Given the description of an element on the screen output the (x, y) to click on. 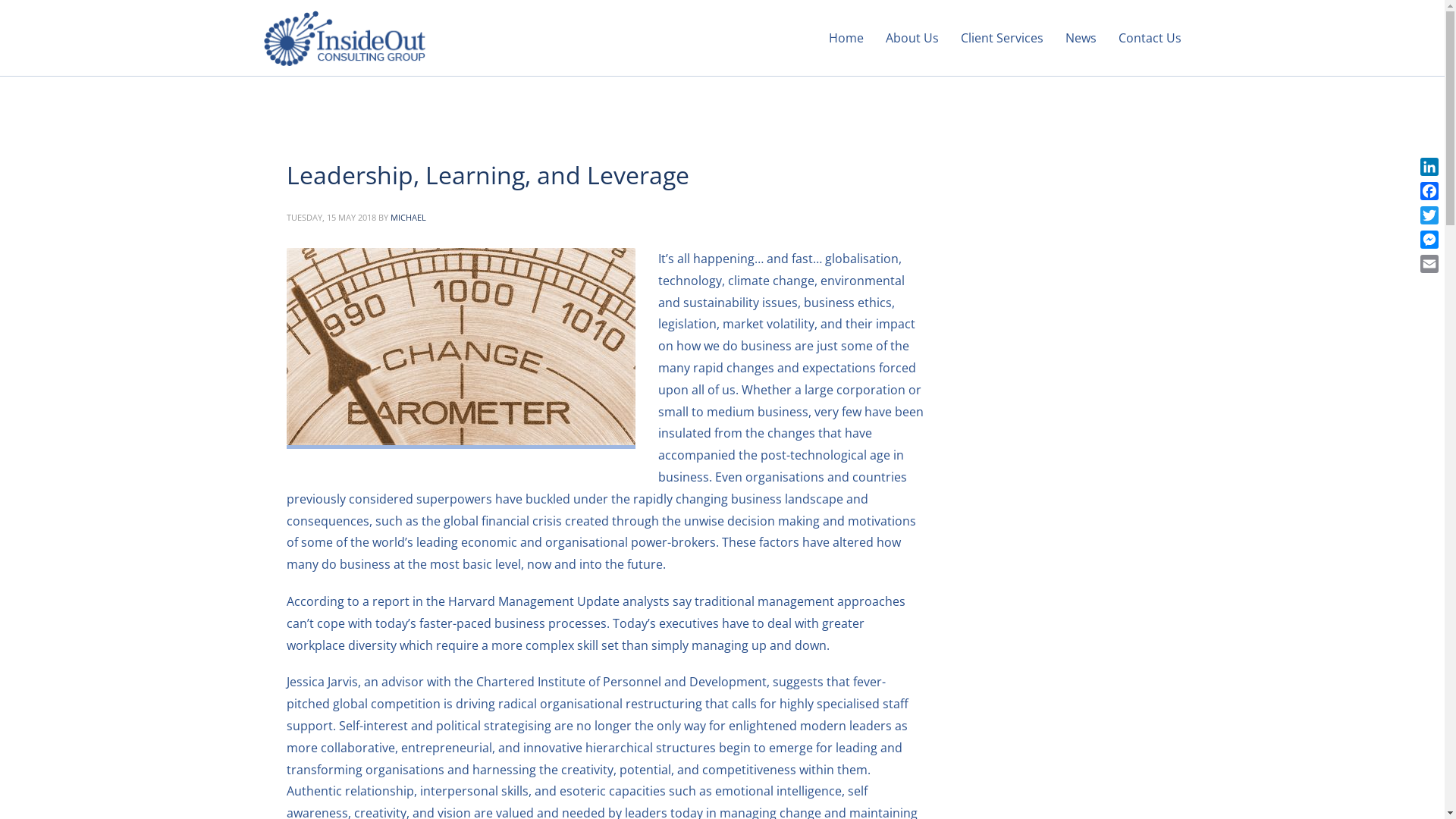
Email Element type: text (1429, 263)
Twitter Element type: text (1429, 215)
HOME Element type: text (275, 101)
News Element type: text (1079, 37)
MICHAEL Element type: text (407, 216)
COACHING Element type: text (323, 101)
LinkedIn Element type: text (1429, 166)
Facebook Element type: text (1429, 190)
Client Services Element type: text (1000, 37)
Leadership, Learning, and Leverage Element type: text (487, 174)
Contact Us Element type: text (1144, 37)
About Us Element type: text (911, 37)
Messenger Element type: text (1429, 239)
Home Element type: text (845, 37)
